Given the description of an element on the screen output the (x, y) to click on. 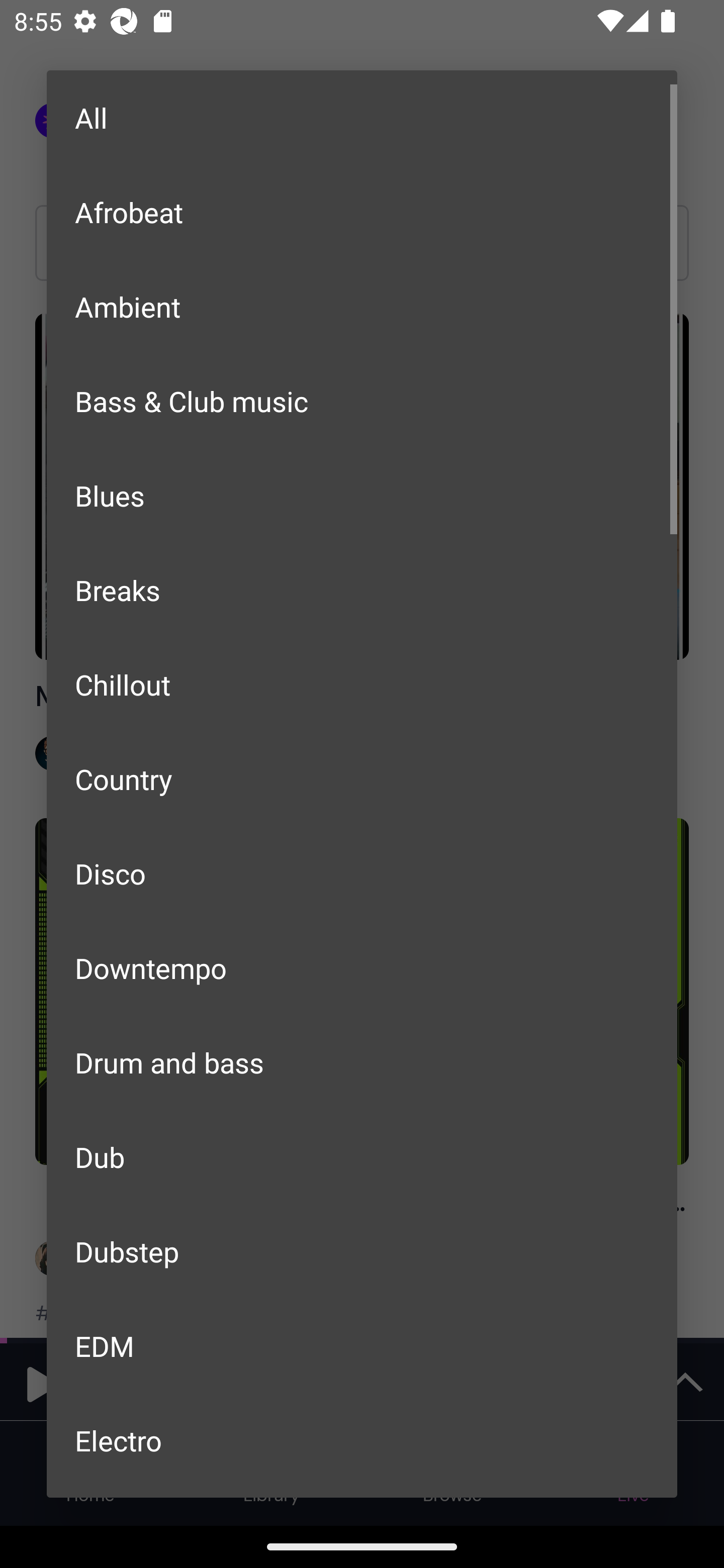
All (361, 117)
Afrobeat (361, 211)
Ambient (361, 306)
Bass & Club music (361, 401)
Blues (361, 495)
Breaks (361, 589)
Chillout (361, 684)
Country (361, 779)
Disco (361, 873)
Downtempo (361, 967)
Drum and bass (361, 1062)
Dub (361, 1157)
Dubstep (361, 1251)
EDM (361, 1345)
Electro (361, 1440)
